Given the description of an element on the screen output the (x, y) to click on. 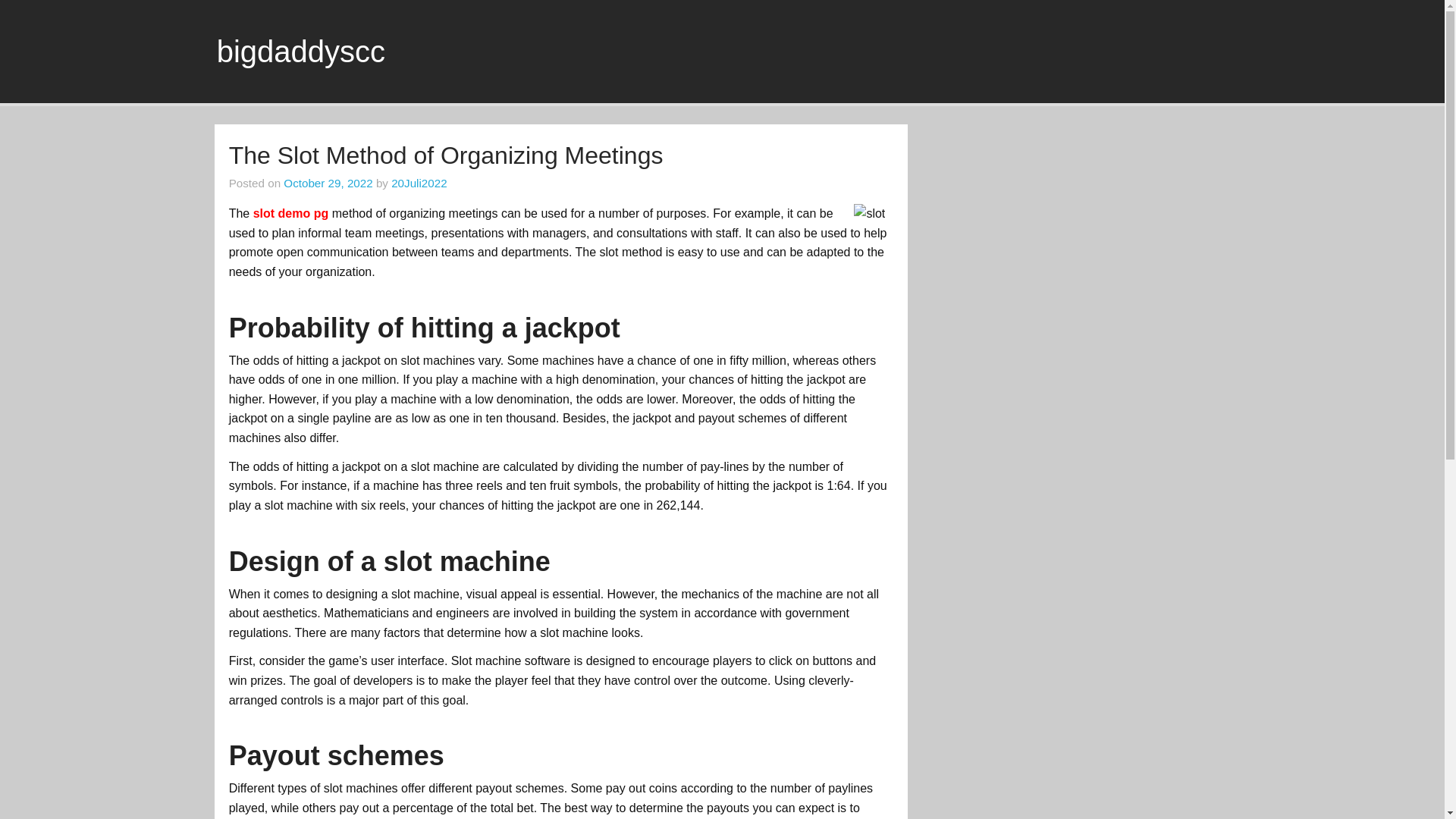
20Juli2022 (418, 182)
slot demo pg (291, 213)
View all posts by 20Juli2022 (418, 182)
bigdaddyscc (300, 51)
October 29, 2022 (327, 182)
11:01 am (327, 182)
